Given the description of an element on the screen output the (x, y) to click on. 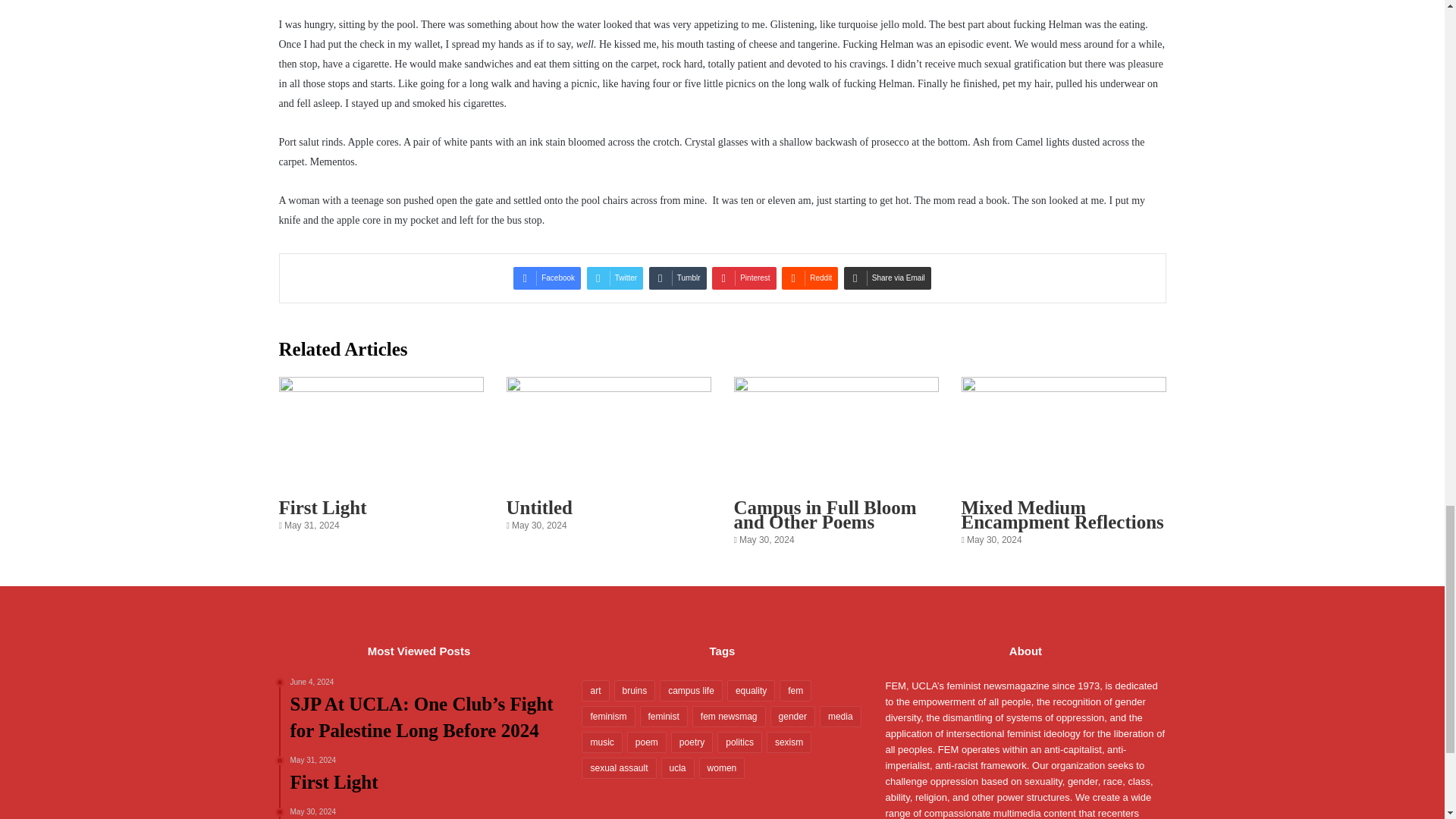
Untitled (539, 507)
Tumblr (677, 277)
Share via Email (887, 277)
Share via Email (887, 277)
Twitter (614, 277)
Facebook (424, 775)
First Light (546, 277)
Pinterest (322, 507)
Twitter (743, 277)
